Given the description of an element on the screen output the (x, y) to click on. 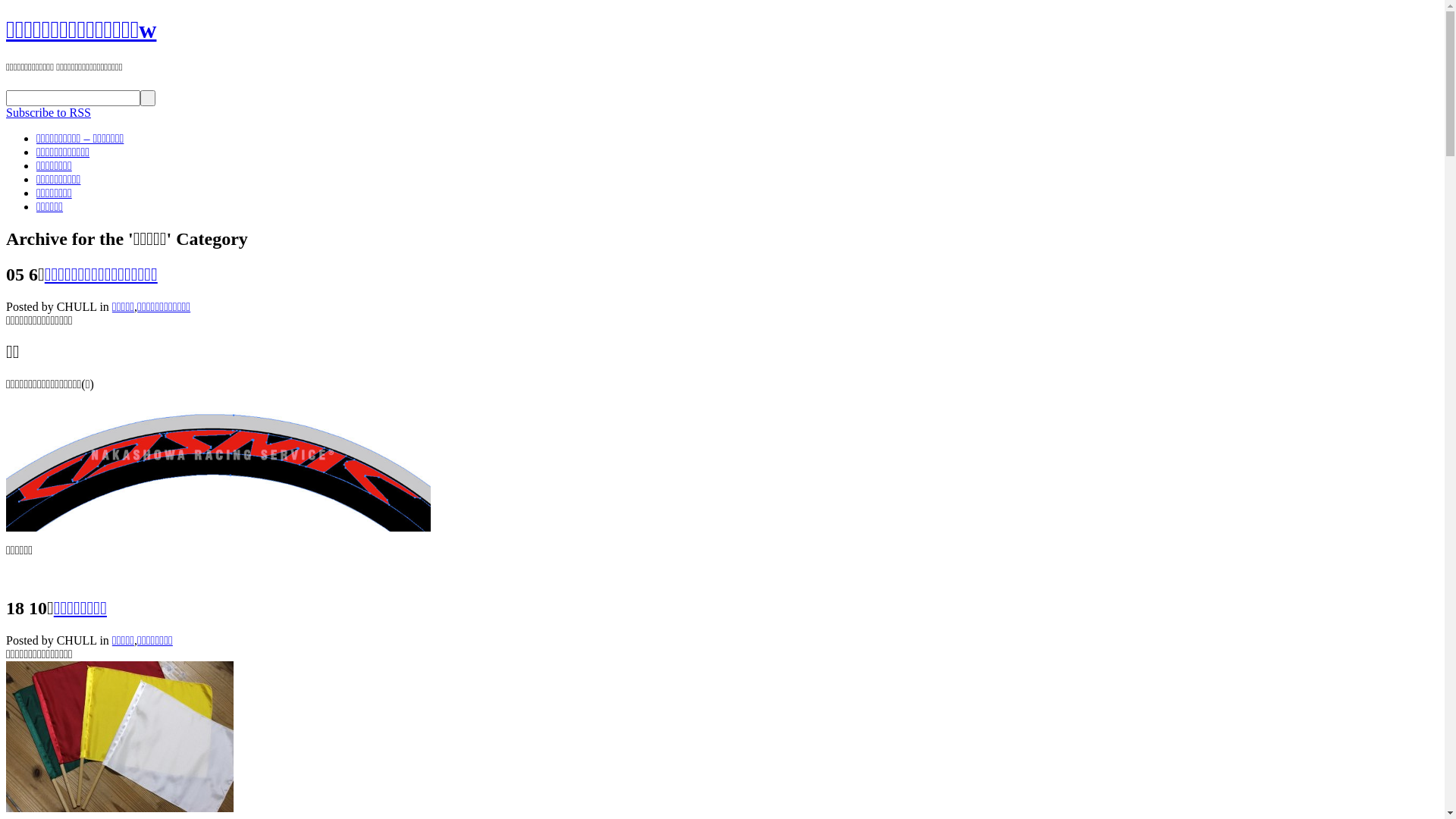
  Element type: text (147, 98)
Subscribe to RSS Element type: text (48, 112)
